Given the description of an element on the screen output the (x, y) to click on. 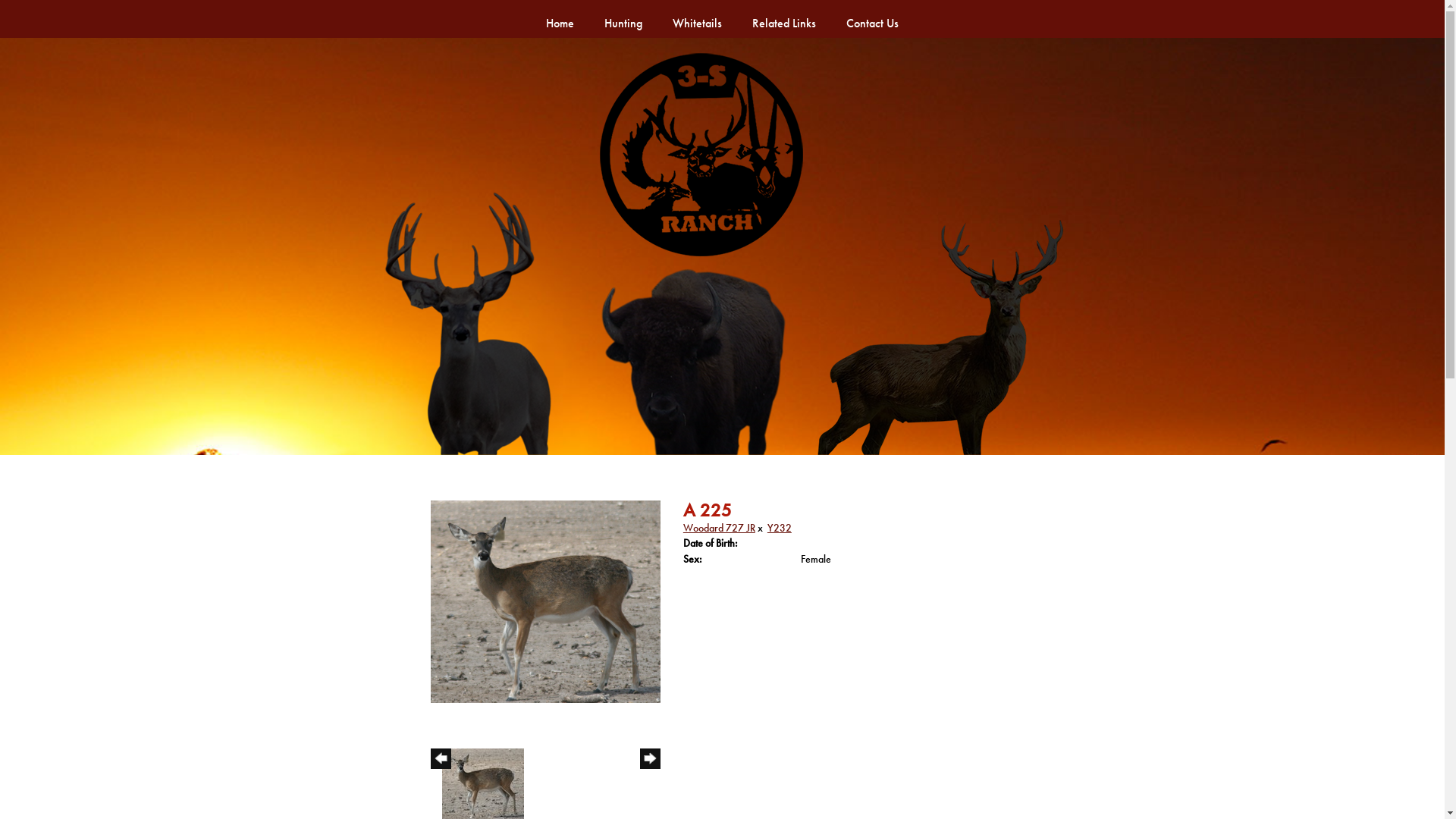
Whitetails Element type: text (697, 20)
Click to view large image Element type: hover (545, 600)
Contact Us Element type: text (872, 20)
< Element type: text (440, 773)
Woodard 727 JR Element type: text (719, 527)
Y232 Element type: text (779, 527)
Home Element type: text (559, 20)
Hunting Element type: text (623, 20)
> Element type: text (650, 773)
Related Links Element type: text (784, 20)
Home Element type: hover (722, 246)
